Given the description of an element on the screen output the (x, y) to click on. 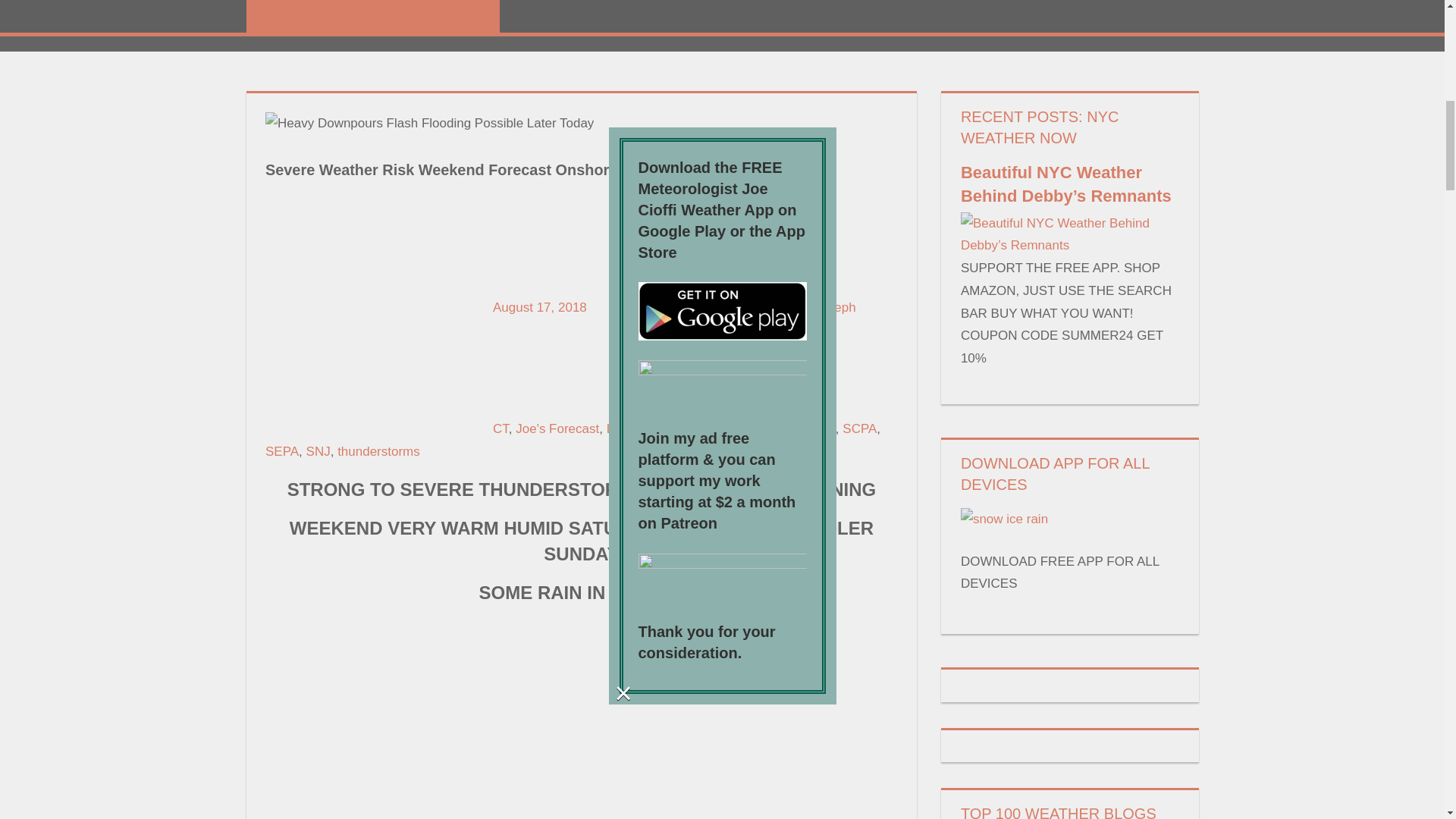
CT (500, 428)
SEPA (281, 451)
joseph (837, 307)
Expand child menu (372, 16)
Joe's Forecast (556, 428)
PHL (822, 428)
NY (711, 428)
8:51 am (539, 307)
August 17, 2018 (539, 307)
SCPA (859, 428)
